Given the description of an element on the screen output the (x, y) to click on. 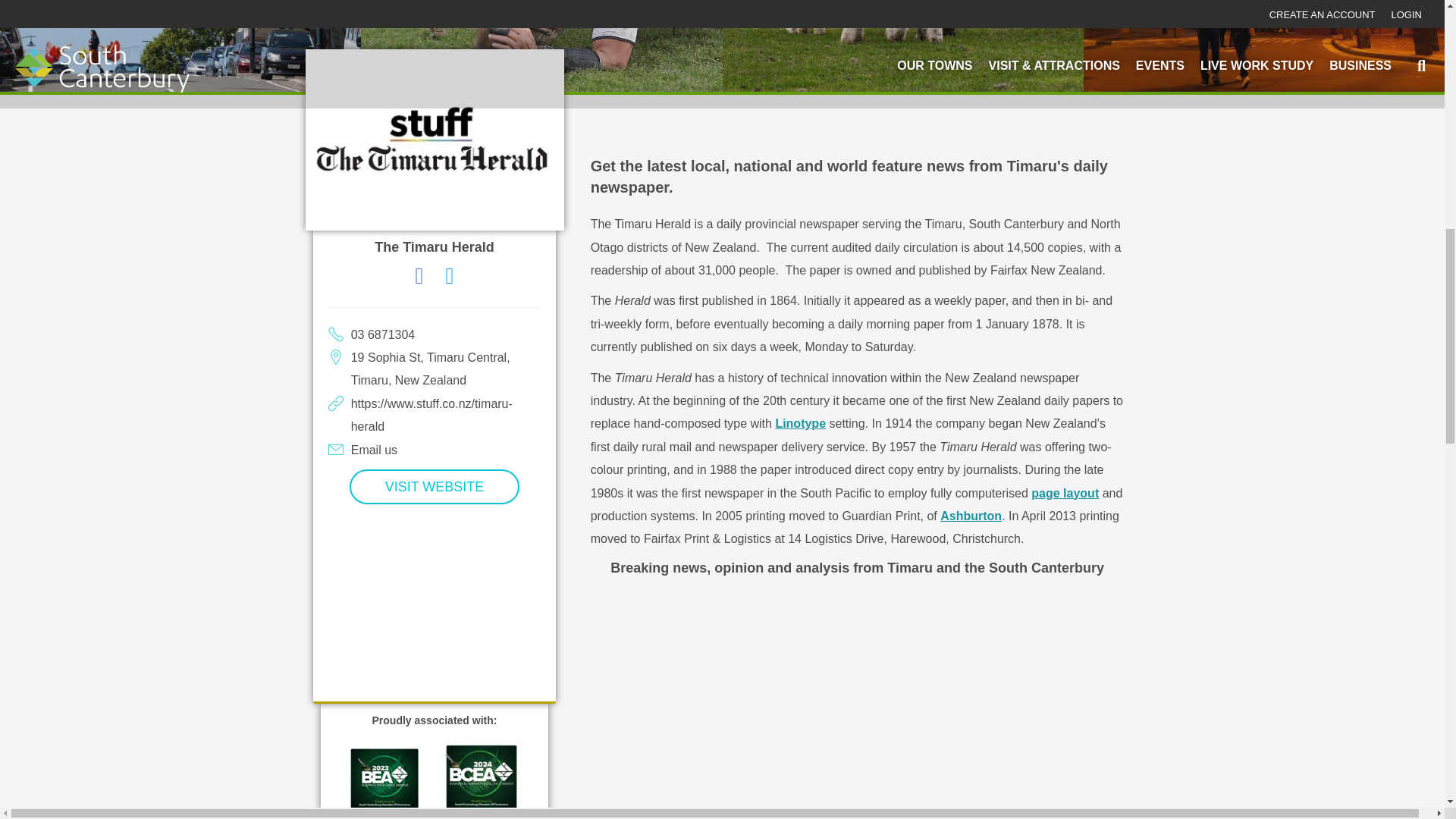
Page layout (1064, 492)
Web Flags 2024 - Large Business Award Sponsor (481, 781)
Ashburton, New Zealand (970, 515)
Sponsor Large Business (384, 781)
Linotype machine (799, 422)
